Given the description of an element on the screen output the (x, y) to click on. 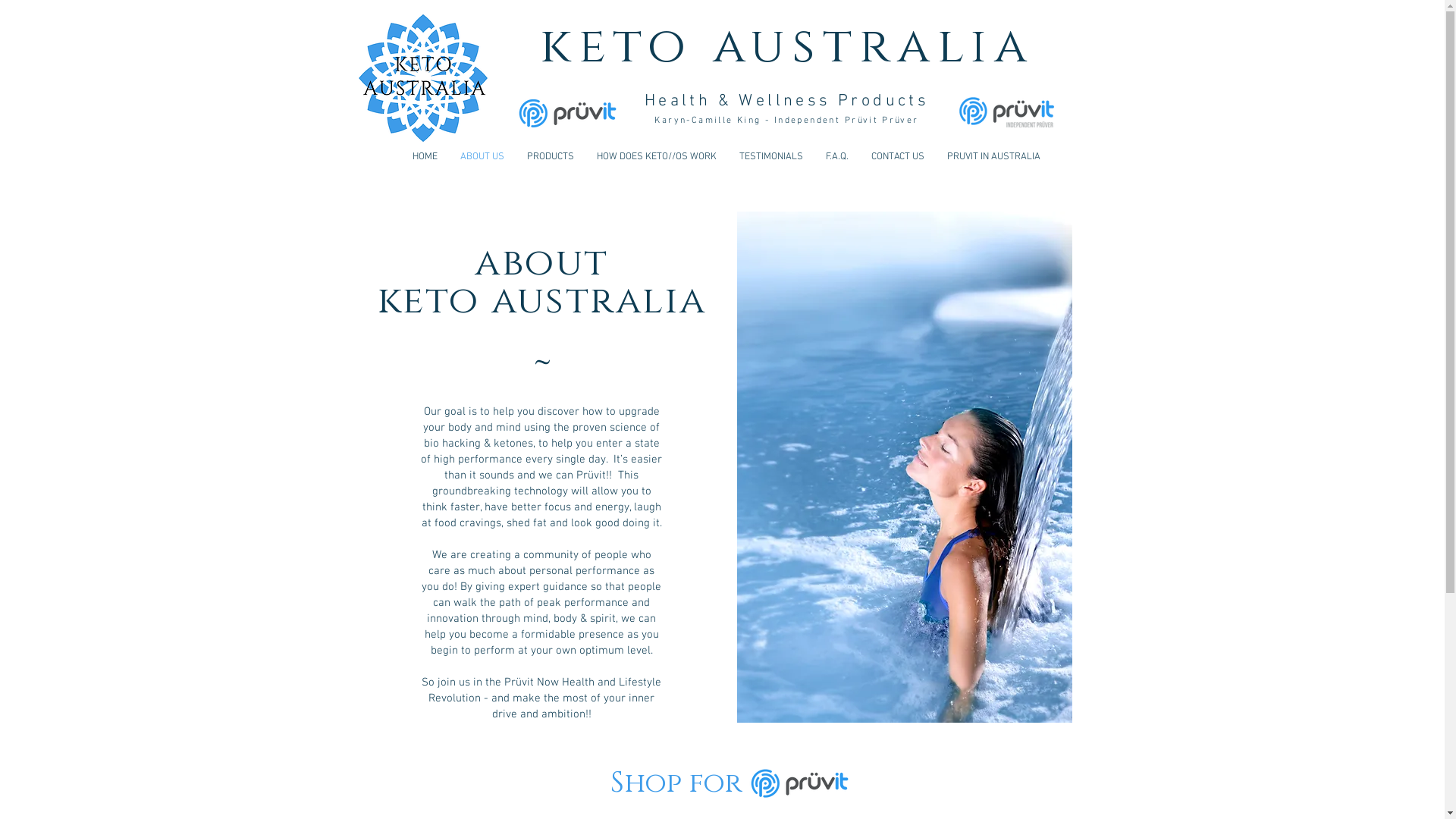
PRUVIT IN AUSTRALIA Element type: text (993, 157)
TESTIMONIALS Element type: text (771, 157)
IPP Logo.png Element type: hover (1005, 112)
F.A.Q. Element type: text (836, 157)
P Logo.png Element type: hover (799, 783)
Health & Wellness Products Element type: text (786, 101)
keto australia Element type: text (786, 46)
CONTACT US Element type: text (897, 157)
P Logo.png Element type: hover (567, 113)
HOME Element type: text (424, 157)
ABOUT US Element type: text (481, 157)
Shop for Element type: text (675, 783)
Keto Australia Logo Element type: hover (422, 77)
PRODUCTS Element type: text (550, 157)
HOW DOES KETO//OS WORK Element type: text (656, 157)
